Given the description of an element on the screen output the (x, y) to click on. 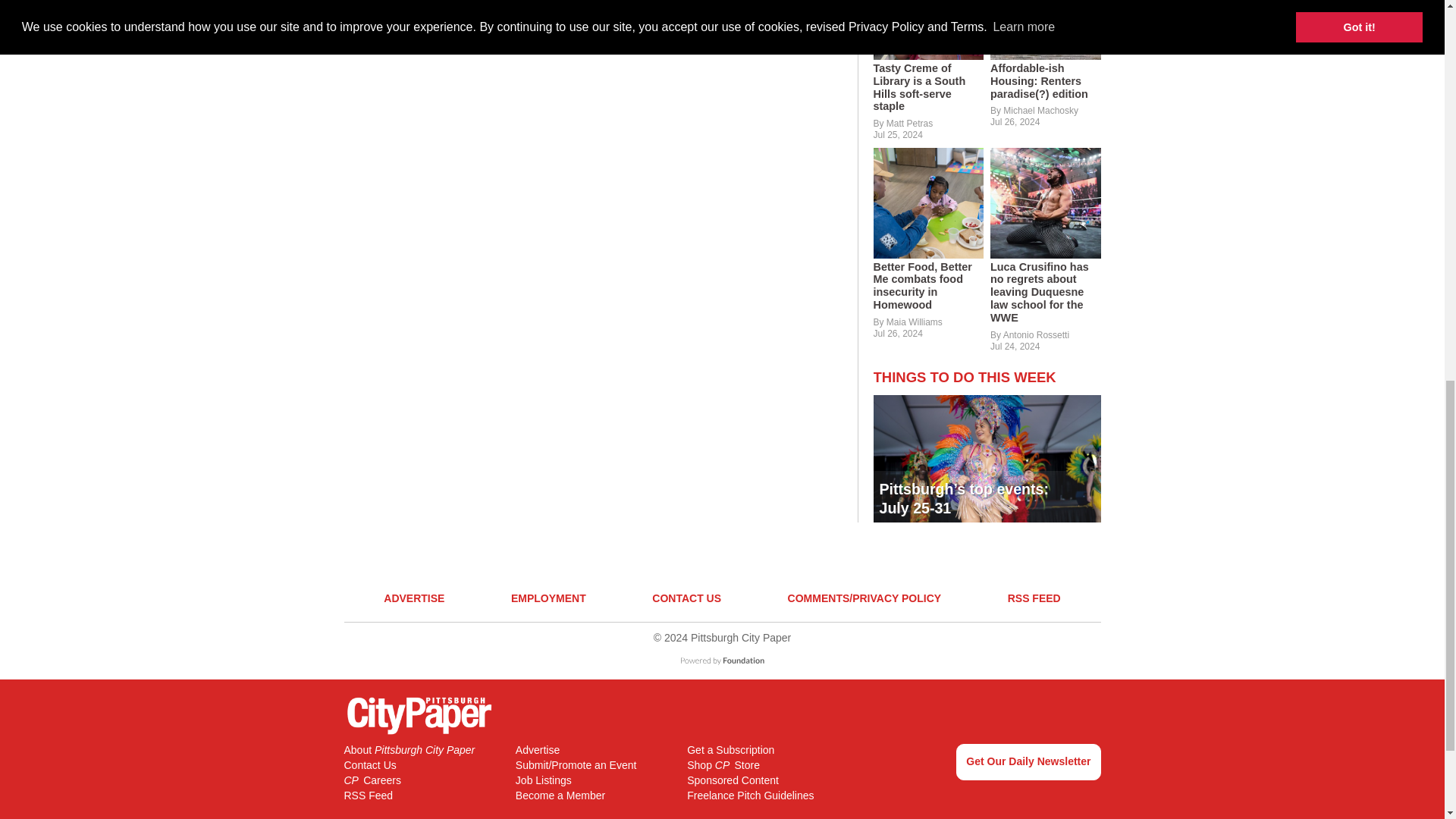
Tasty Creme of Library is a South Hills soft-serve staple (928, 88)
